Given the description of an element on the screen output the (x, y) to click on. 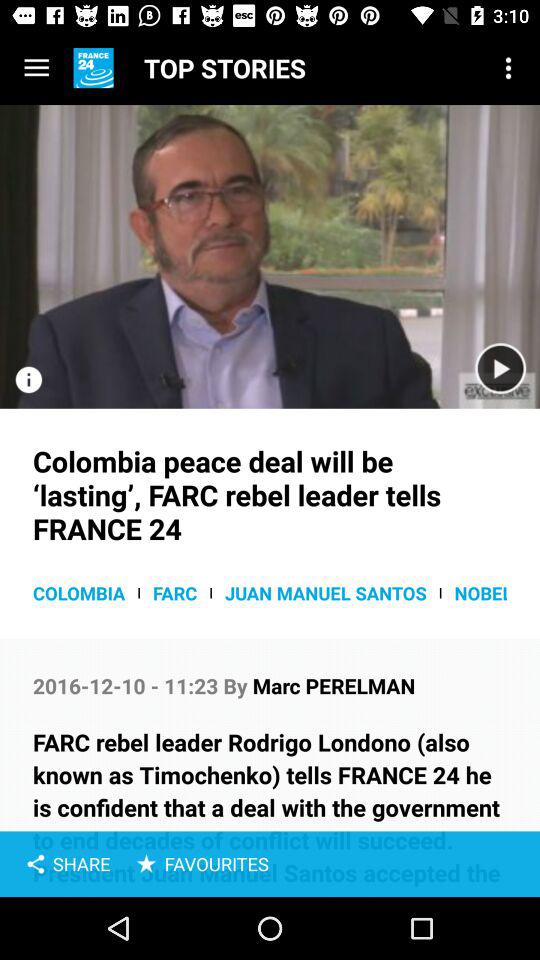
click the icon at the top right corner (508, 67)
